Given the description of an element on the screen output the (x, y) to click on. 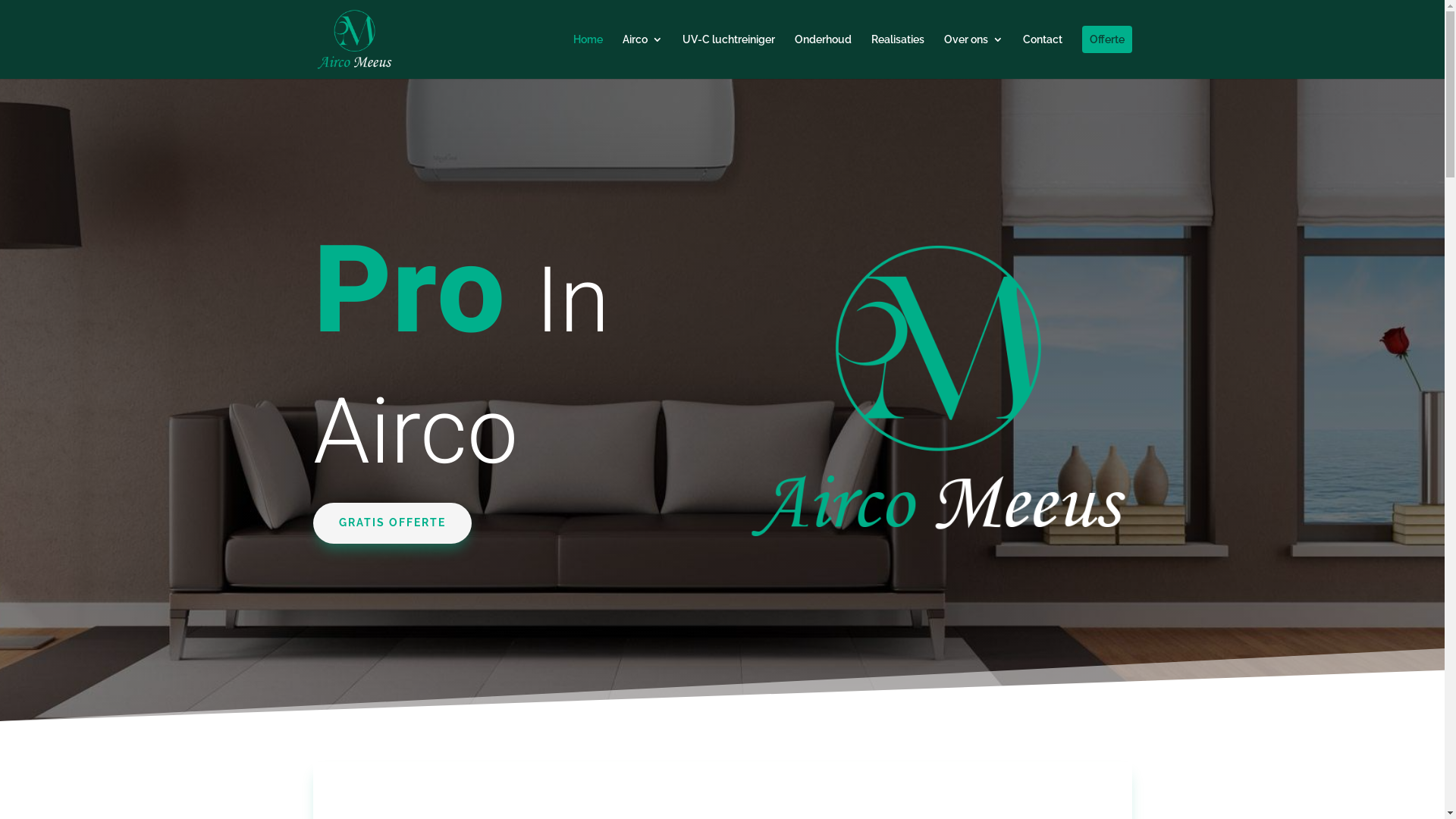
UV-C luchtreiniger Element type: text (728, 56)
Airco Meeus Element type: hover (937, 390)
Onderhoud Element type: text (822, 56)
Over ons Element type: text (972, 56)
Airco Element type: text (641, 56)
Realisaties Element type: text (896, 56)
Offerte Element type: text (1106, 56)
Contact Element type: text (1041, 56)
GRATIS OFFERTE Element type: text (391, 522)
Home Element type: text (587, 56)
